Given the description of an element on the screen output the (x, y) to click on. 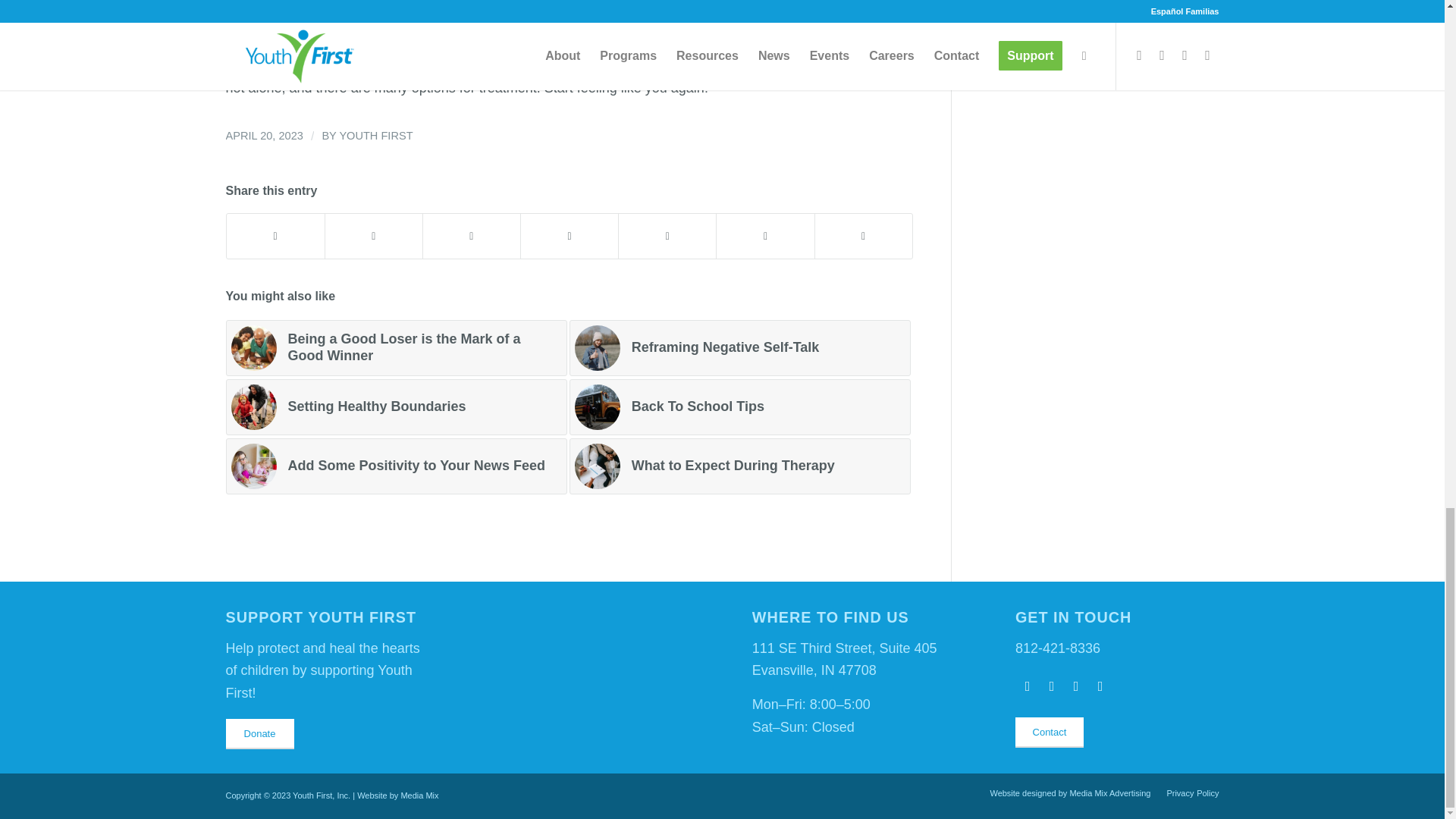
Posts by Youth First (375, 135)
